Given the description of an element on the screen output the (x, y) to click on. 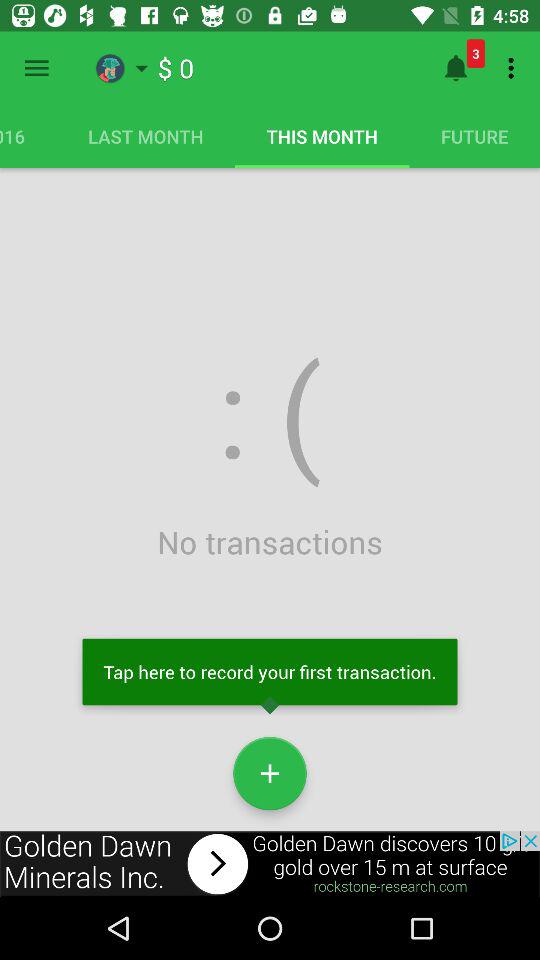
menu button (36, 68)
